Given the description of an element on the screen output the (x, y) to click on. 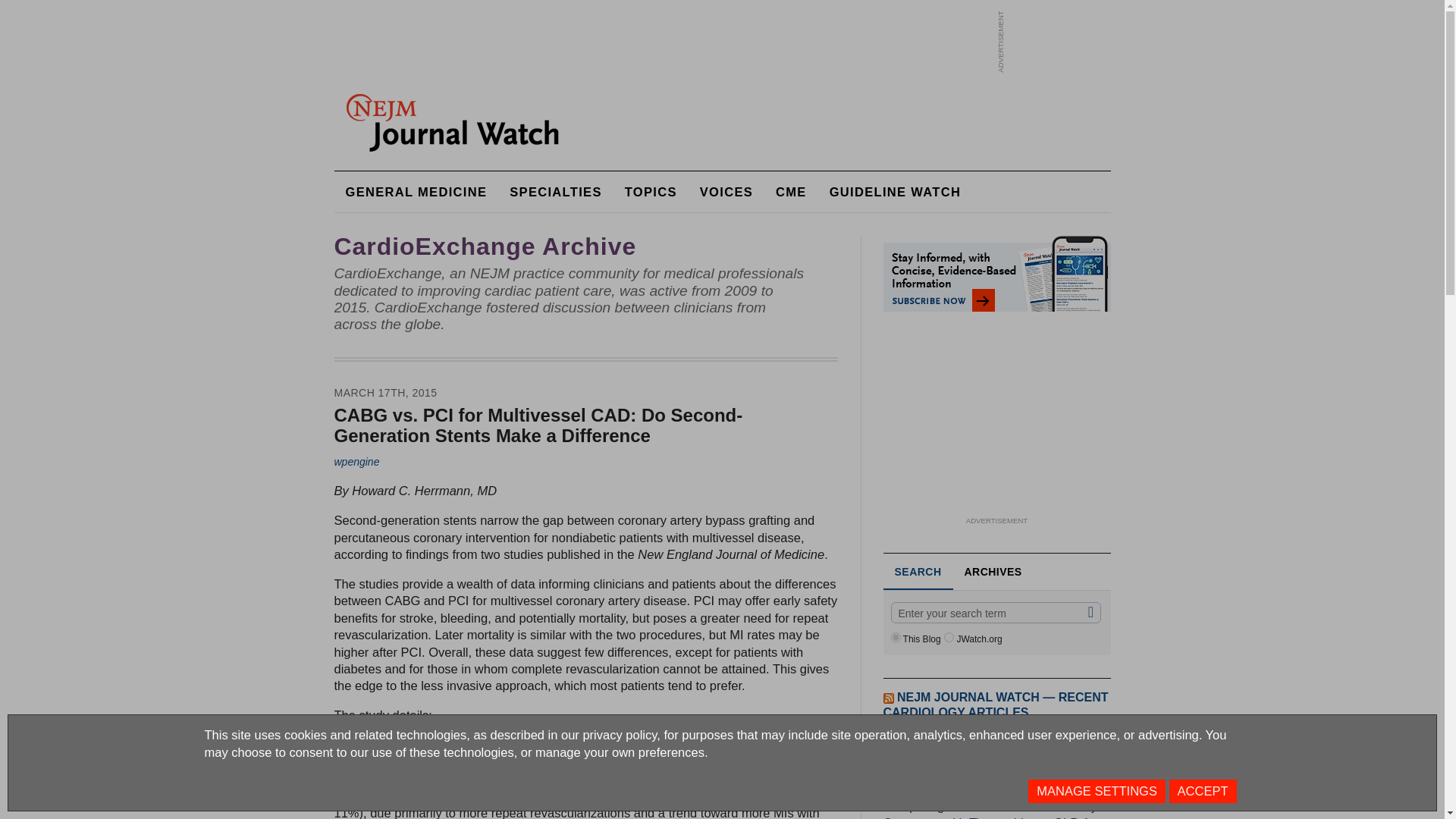
JWatch.org (948, 637)
CardioExchange Archive (484, 246)
TOPICS (650, 191)
GENERAL MEDICINE (415, 191)
This Blog (894, 637)
GUIDELINE WATCH (895, 191)
Posts by wpengine (355, 461)
wpengine (355, 461)
Enter your search term (994, 612)
CardioExchange Archive: Permalink (484, 246)
